Given the description of an element on the screen output the (x, y) to click on. 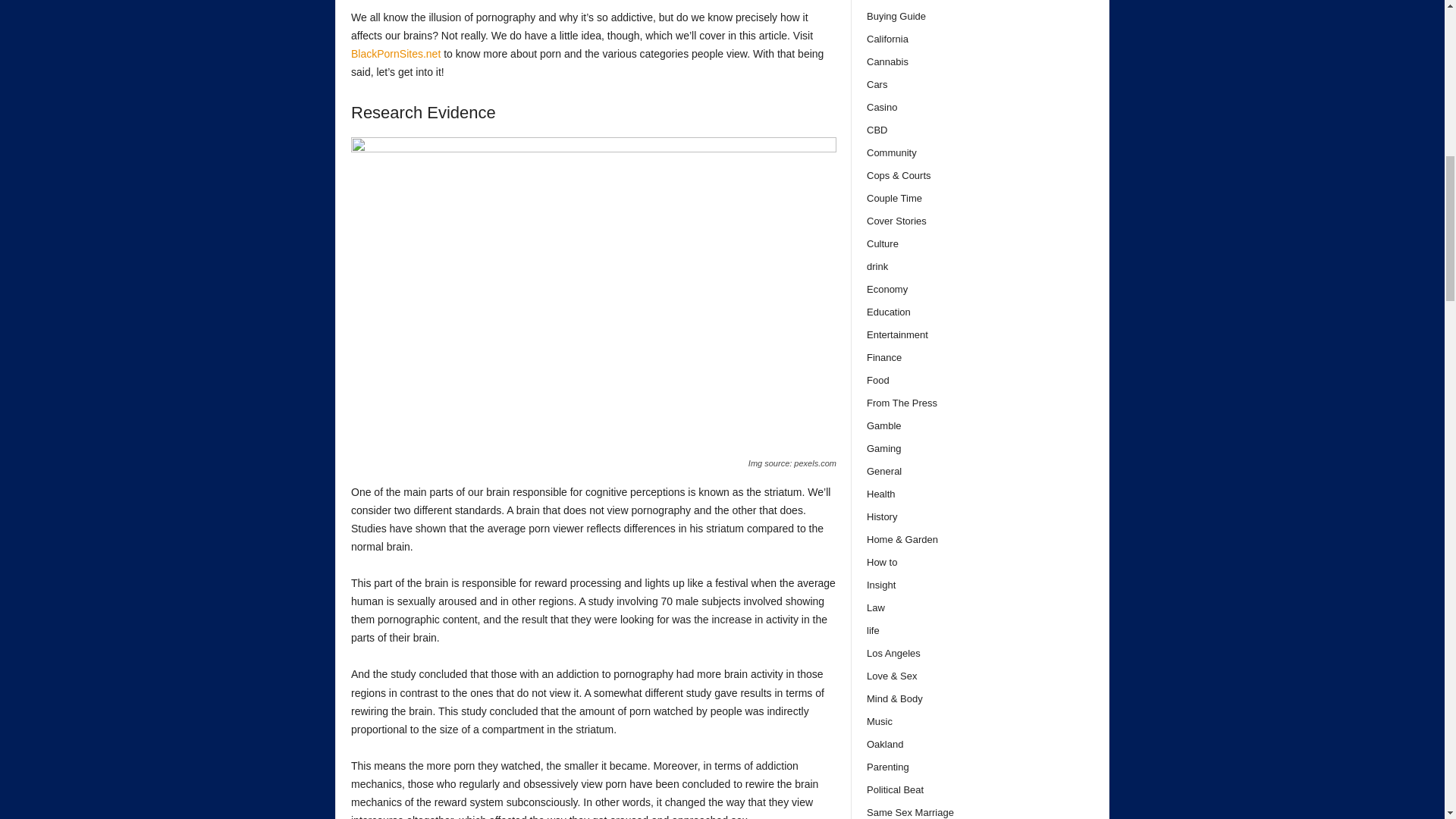
BlackPornSites.net (395, 53)
